Given the description of an element on the screen output the (x, y) to click on. 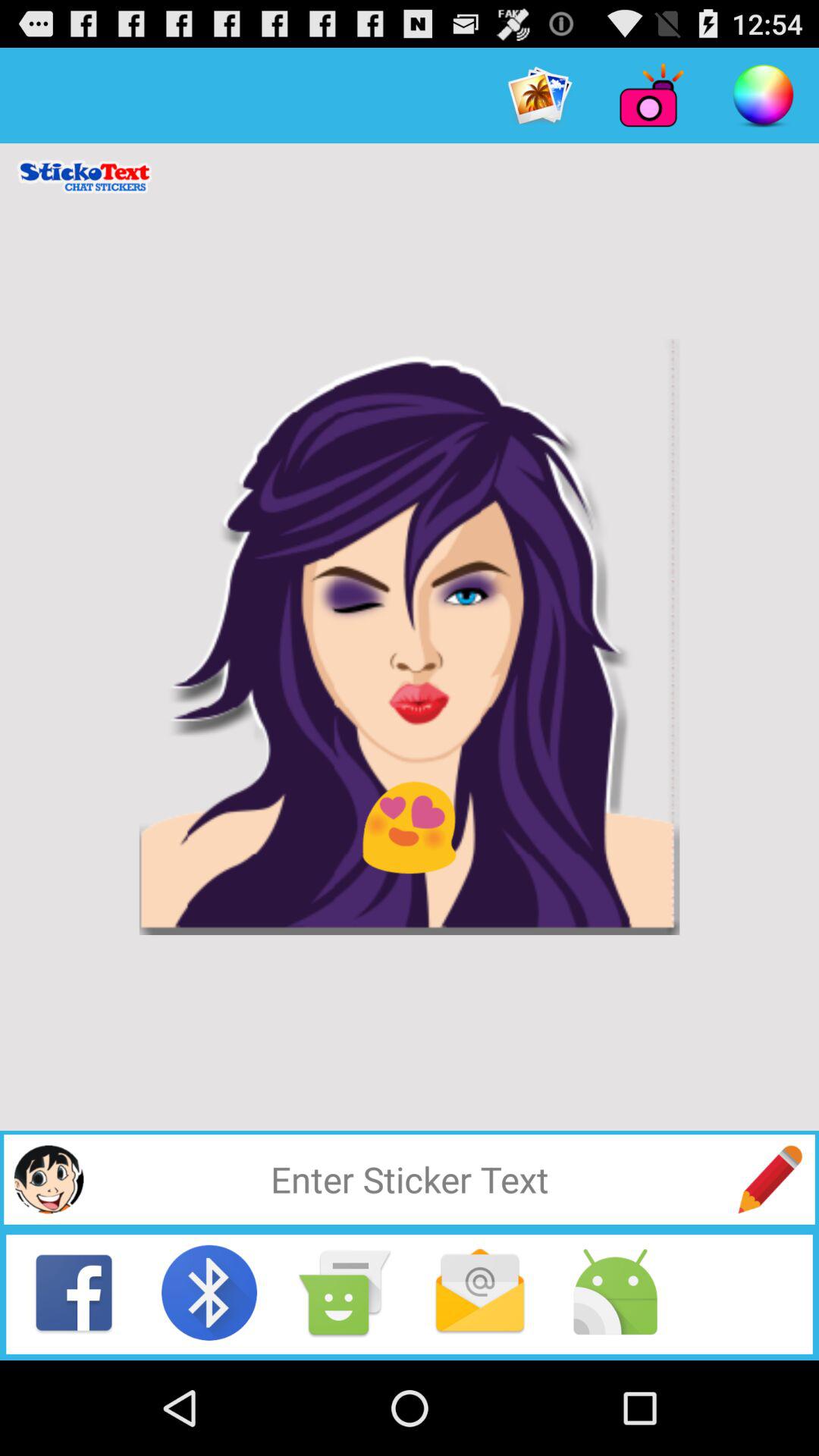
launch the item at the top (540, 95)
